Given the description of an element on the screen output the (x, y) to click on. 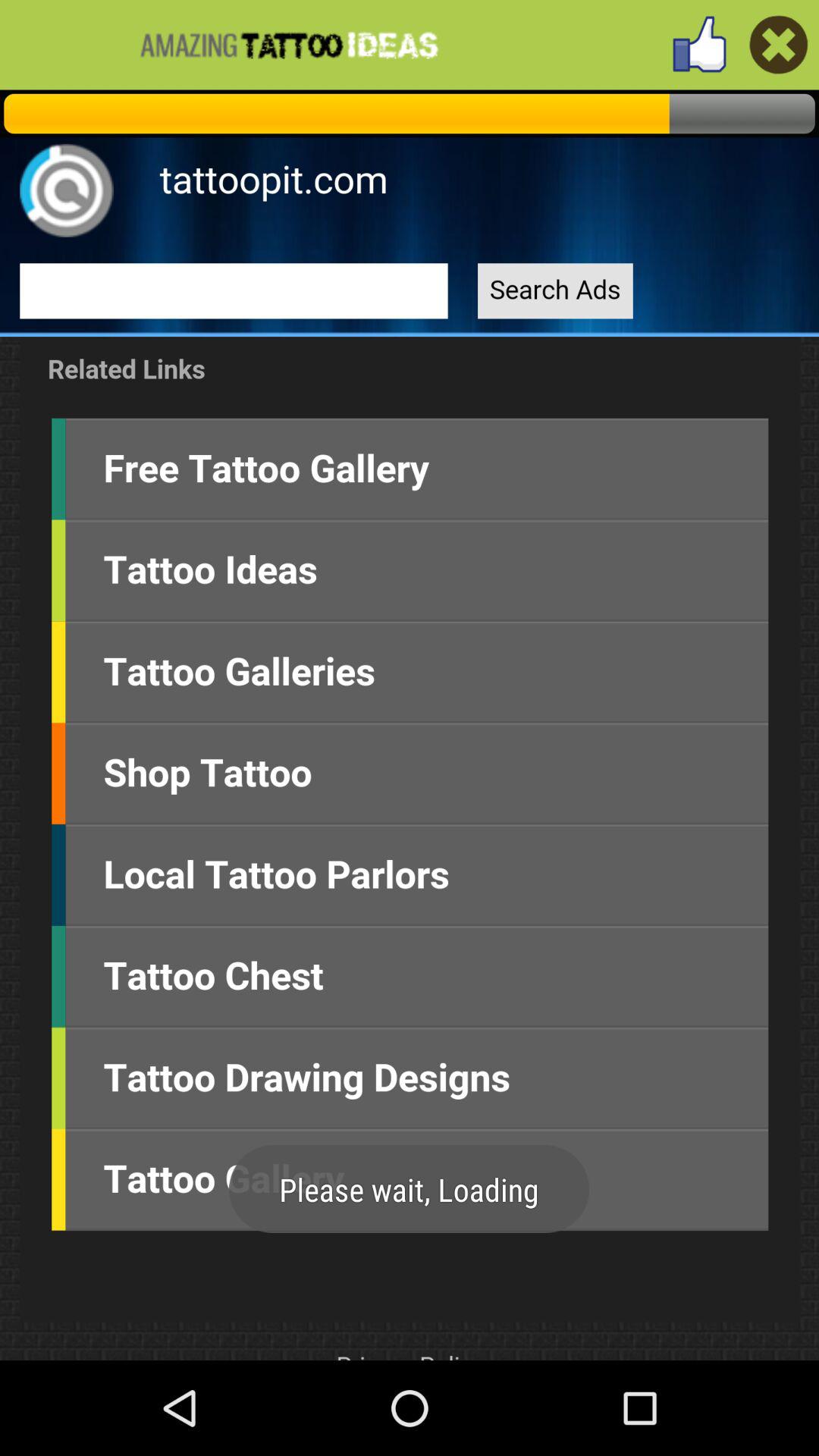
home screen (409, 724)
